Given the description of an element on the screen output the (x, y) to click on. 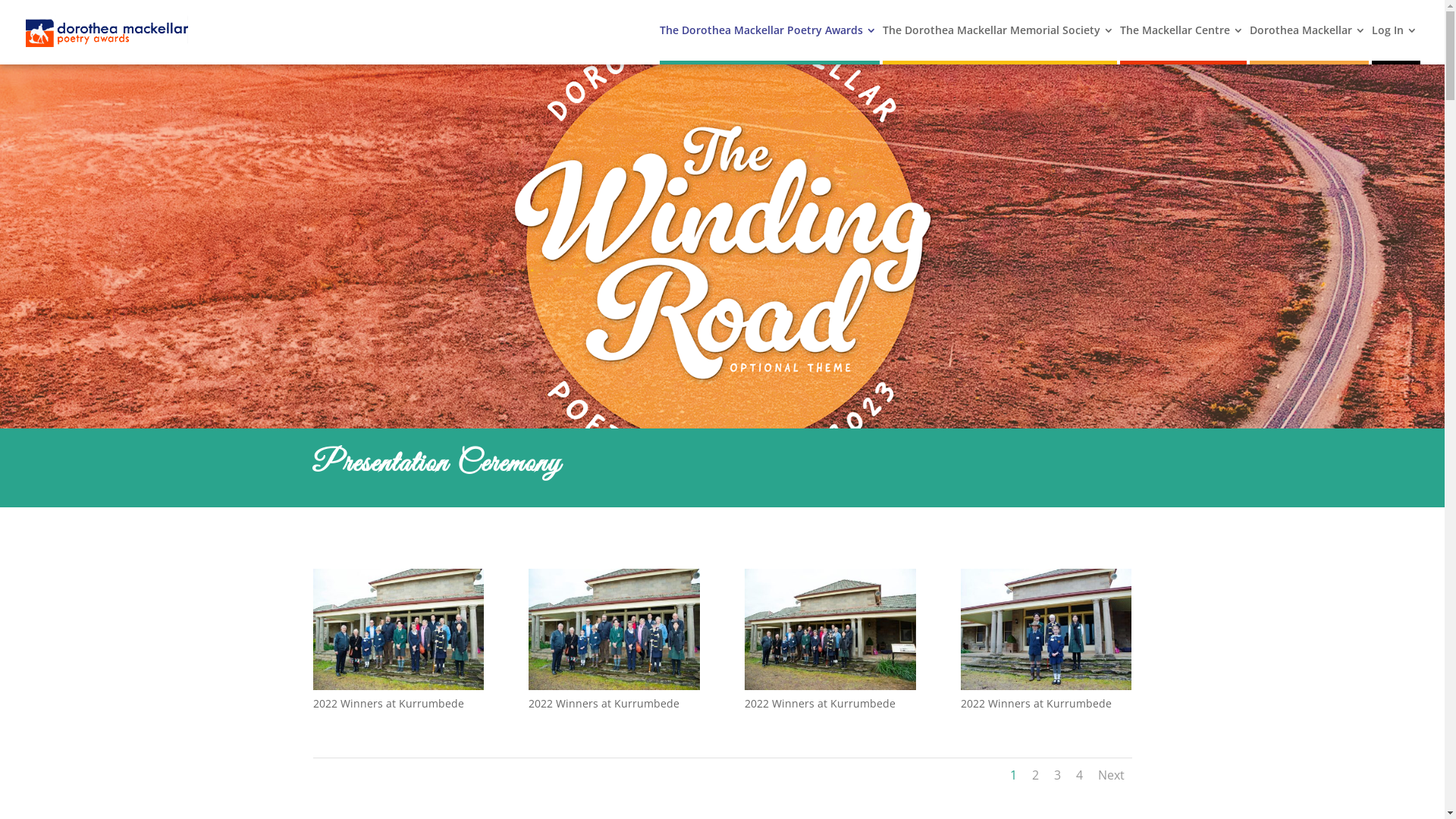
2 Element type: text (1034, 774)
The Dorothea Mackellar Memorial Society Element type: text (997, 42)
Next Element type: text (1111, 774)
1 Element type: text (1013, 774)
The Dorothea Mackellar Poetry Awards Element type: text (767, 42)
3 Element type: text (1057, 774)
Dorothea Mackellar Element type: text (1307, 42)
The Mackellar Centre Element type: text (1181, 42)
4 Element type: text (1078, 774)
Log In Element type: text (1394, 42)
